Given the description of an element on the screen output the (x, y) to click on. 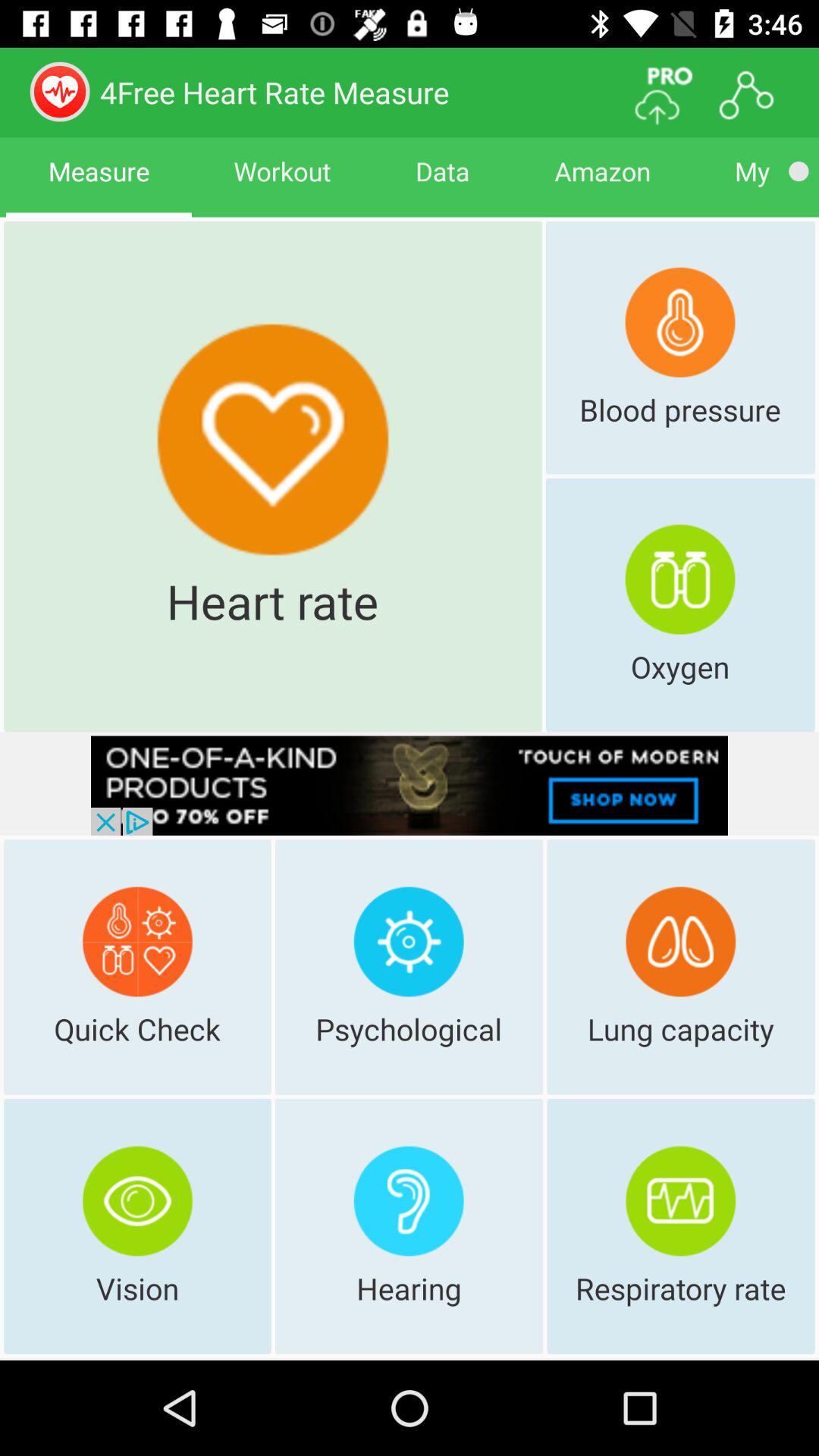
details about advertisement (409, 785)
